Given the description of an element on the screen output the (x, y) to click on. 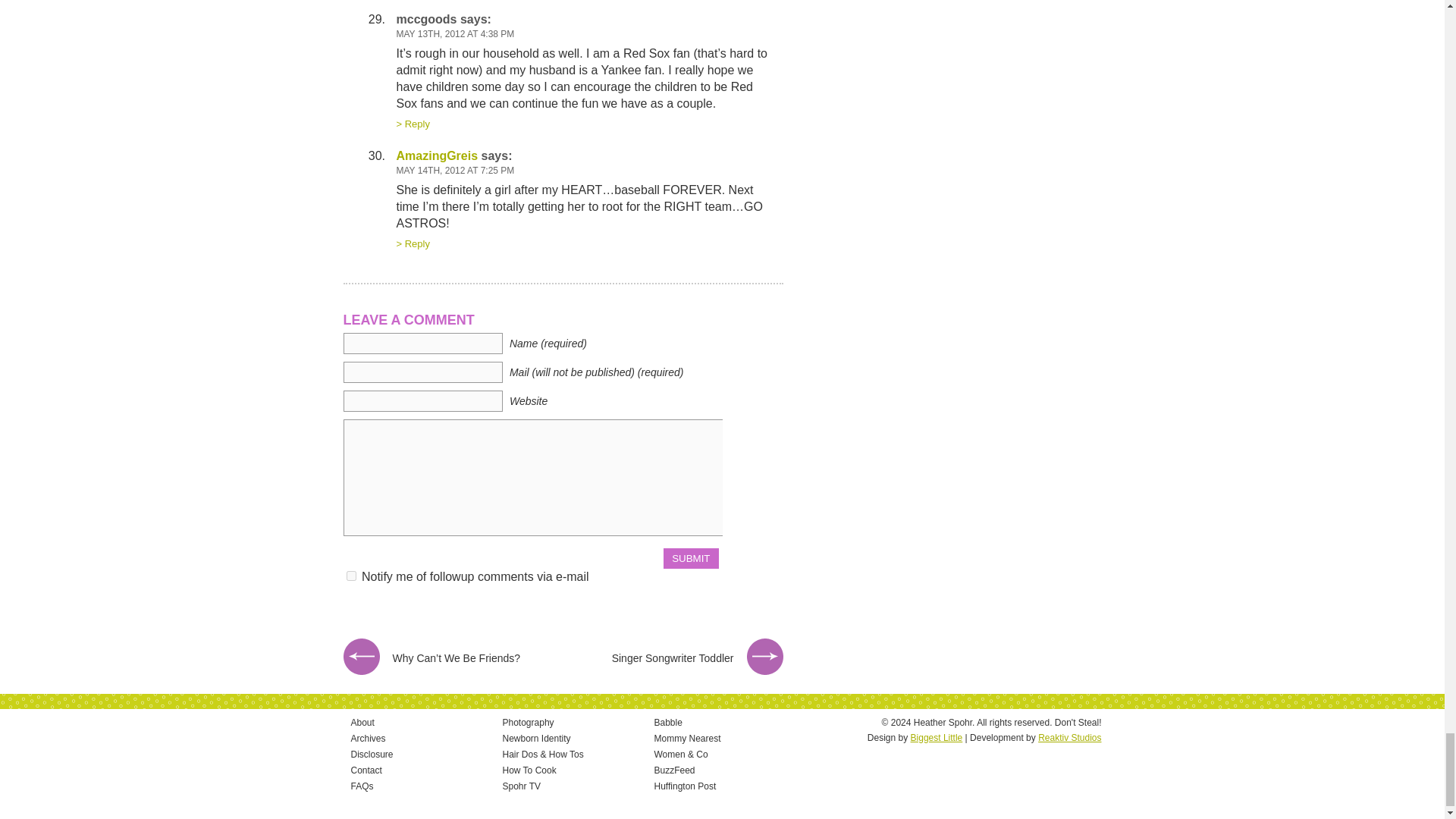
subscribe (350, 575)
Submit (690, 557)
